Given the description of an element on the screen output the (x, y) to click on. 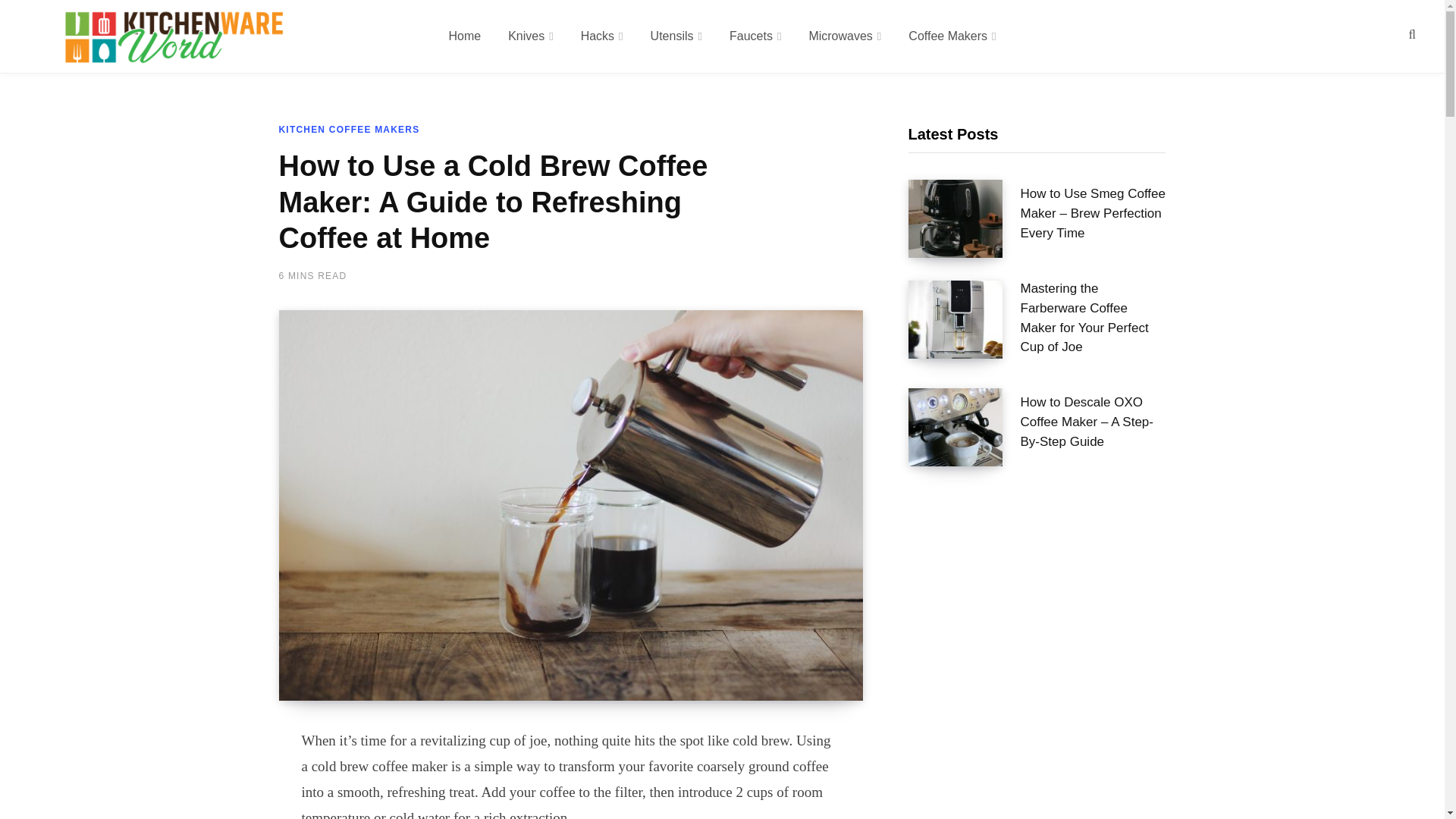
Hacks (602, 36)
Kitchenware World (173, 36)
Knives (531, 36)
